Given the description of an element on the screen output the (x, y) to click on. 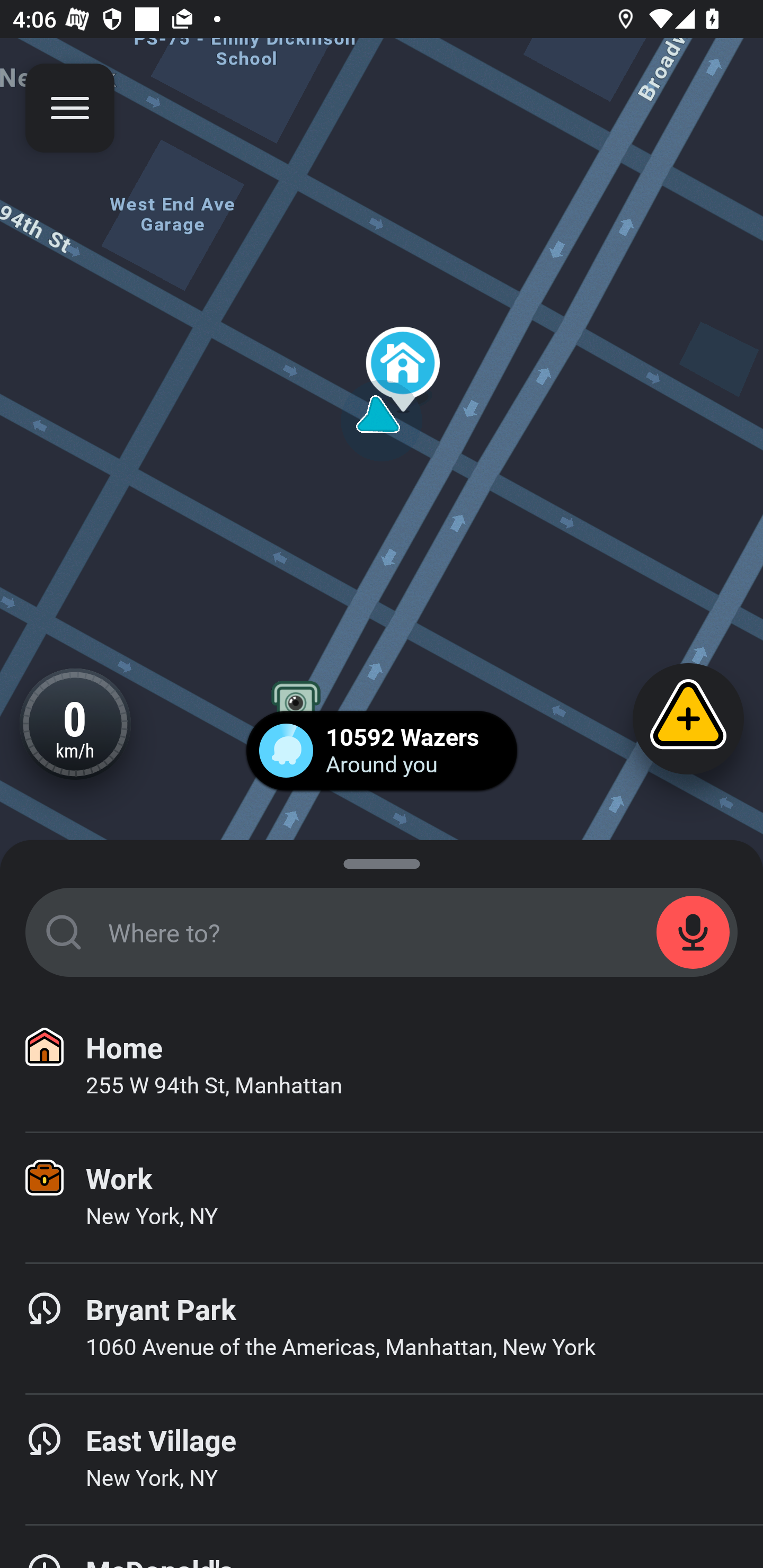
SUGGESTIONS_SHEET_DRAG_HANDLE (381, 860)
START_STATE_SEARCH_FIELD Where to? (381, 931)
Home 255 W 94th St, Manhattan (381, 1066)
Work New York, NY (381, 1197)
East Village New York, NY (381, 1459)
